Given the description of an element on the screen output the (x, y) to click on. 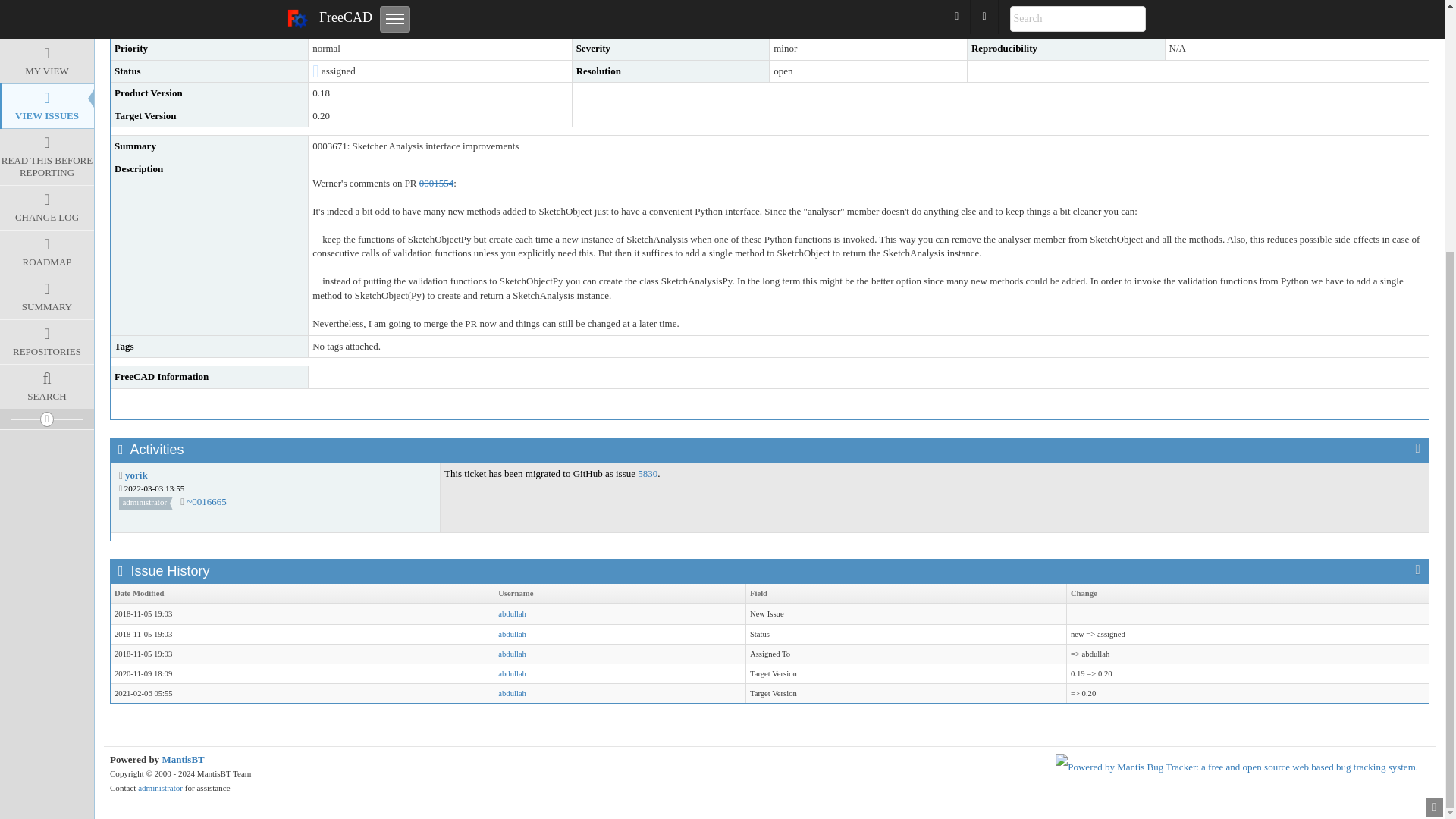
Contact the webmaster via e-mail. (160, 787)
Direct link to note (206, 501)
bug tracking software (182, 758)
